Given the description of an element on the screen output the (x, y) to click on. 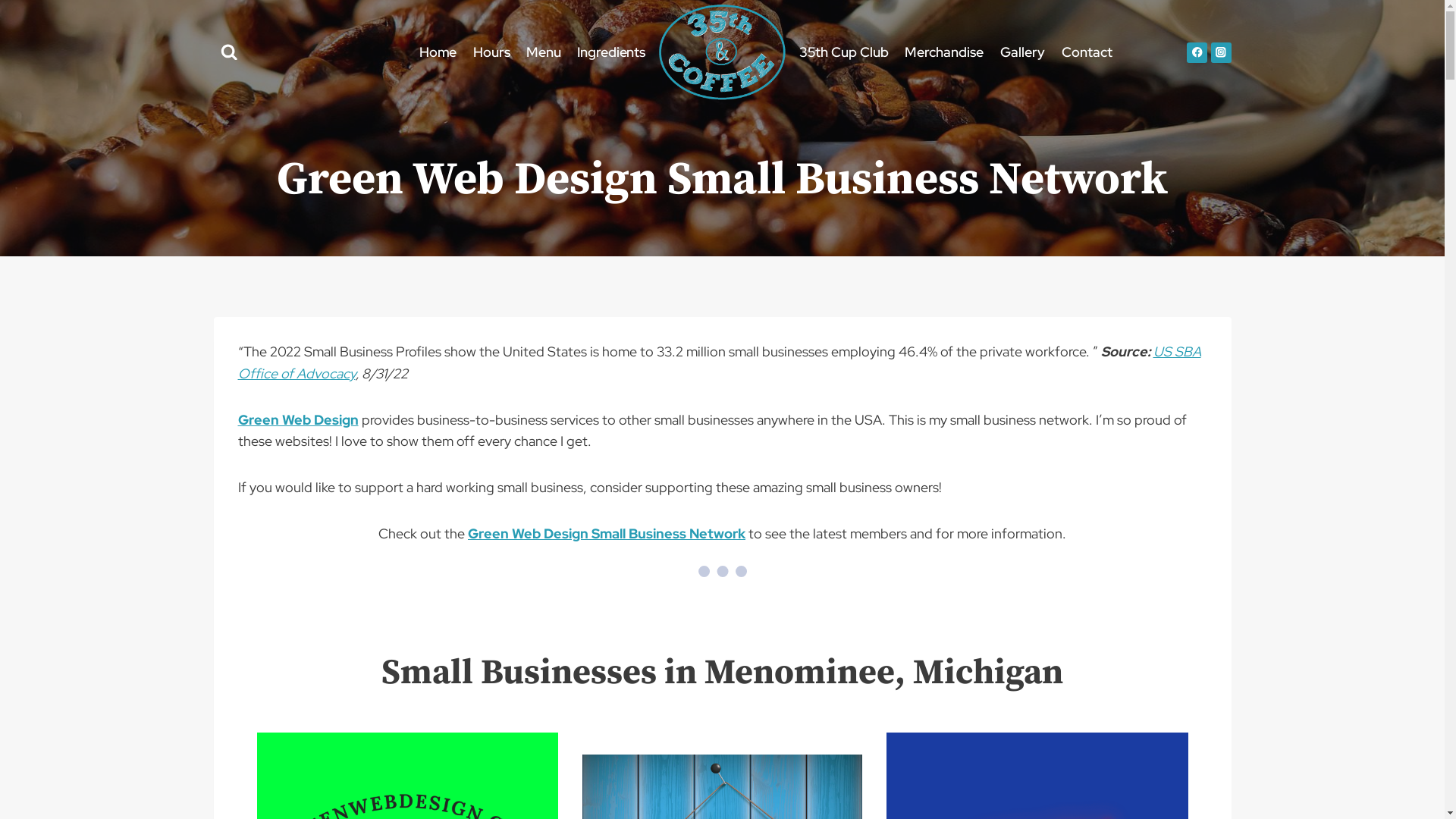
Contact Element type: text (1086, 52)
Menu Element type: text (542, 52)
Green Web Design Small Business Network Element type: text (606, 533)
US SBA Office of Advocacy Element type: text (719, 362)
35th Cup Club Element type: text (843, 52)
Hours Element type: text (490, 52)
Ingredients Element type: text (610, 52)
Merchandise Element type: text (944, 52)
Green Web Design Element type: text (298, 419)
Gallery Element type: text (1022, 52)
Home Element type: text (437, 52)
